Given the description of an element on the screen output the (x, y) to click on. 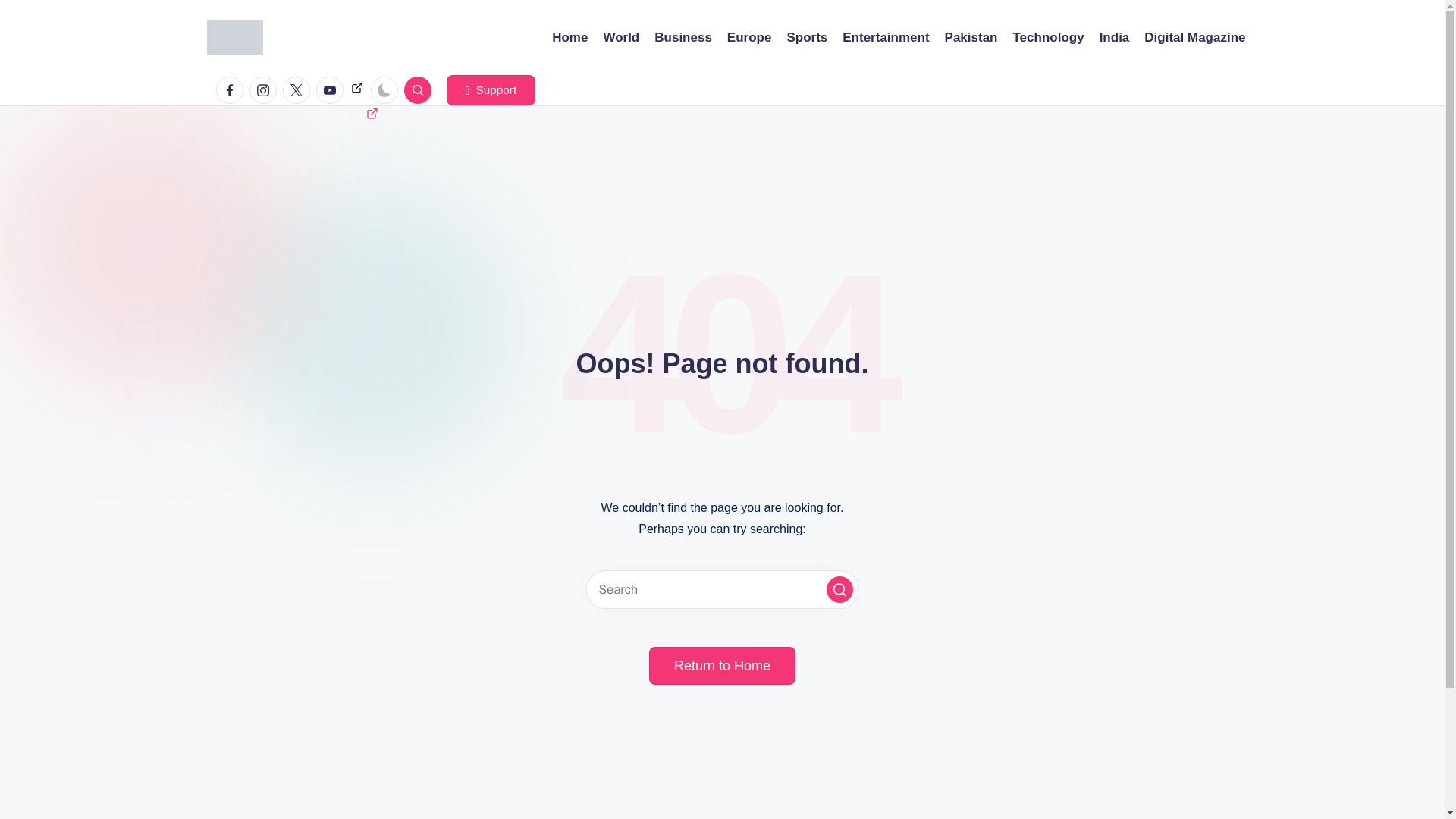
twitter (298, 90)
Sports (806, 37)
Digital Magazine (1194, 37)
Business (682, 37)
World (620, 37)
Home (569, 37)
India (1114, 37)
youtube (332, 90)
facebook (231, 90)
Twitter (295, 90)
